Given the description of an element on the screen output the (x, y) to click on. 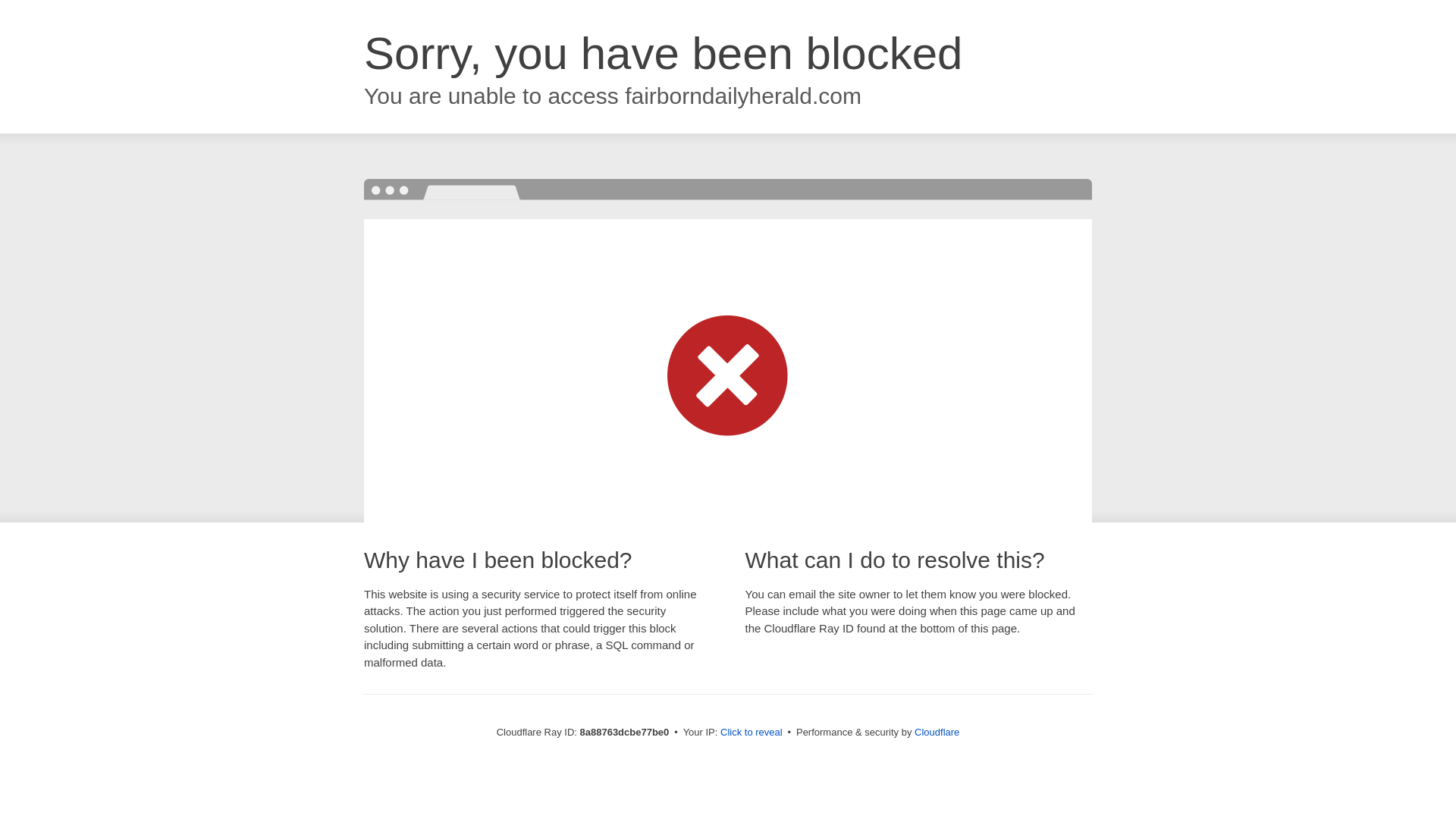
Click to reveal (751, 732)
Cloudflare (936, 731)
